Given the description of an element on the screen output the (x, y) to click on. 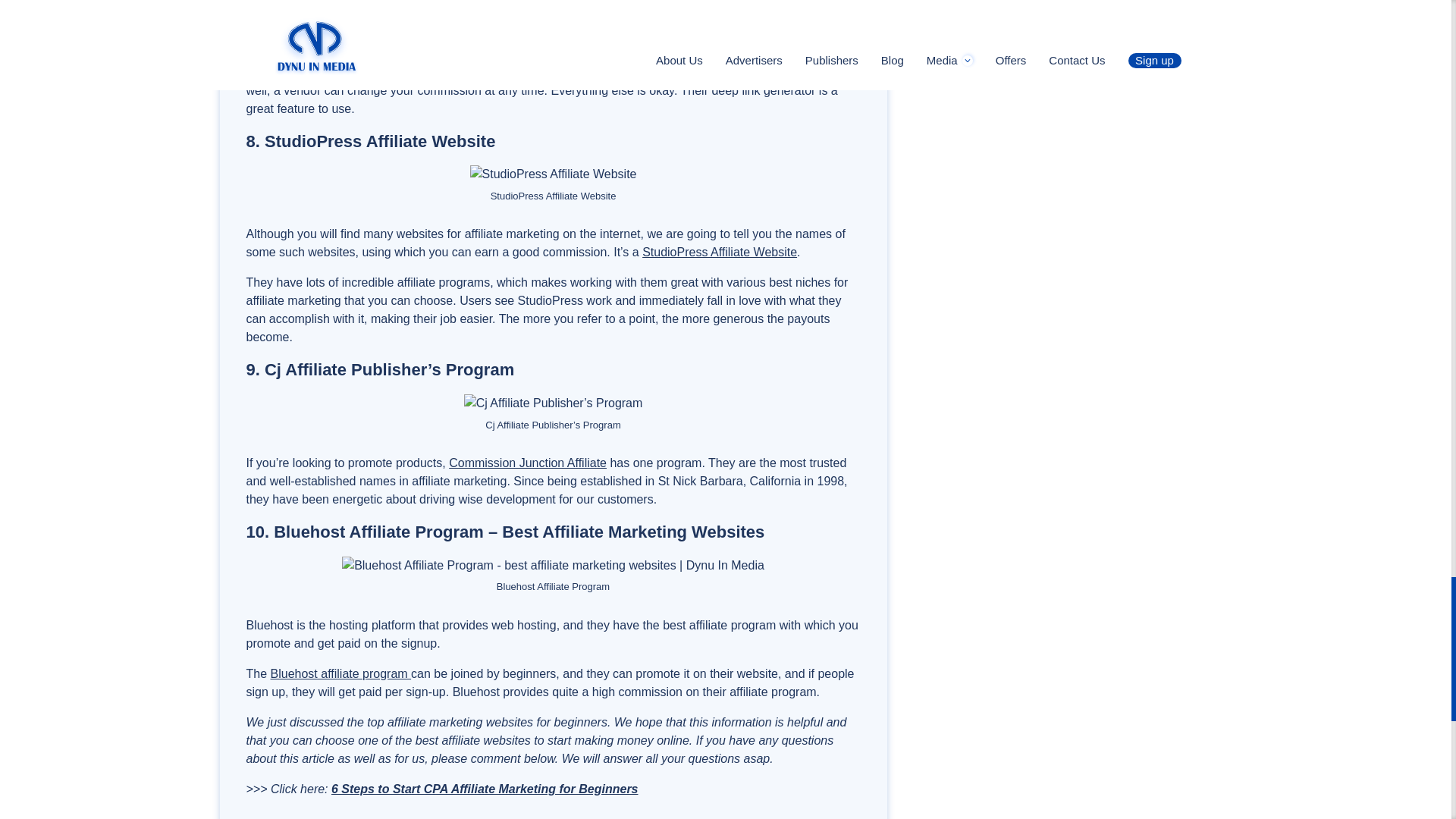
StudioPress Affiliate Website (719, 251)
6 Steps to Start CPA Affiliate Marketing for Beginners (485, 788)
Bluehost affiliate program (341, 673)
Commission Junction Affiliate (527, 462)
Rakuten network (384, 72)
